Given the description of an element on the screen output the (x, y) to click on. 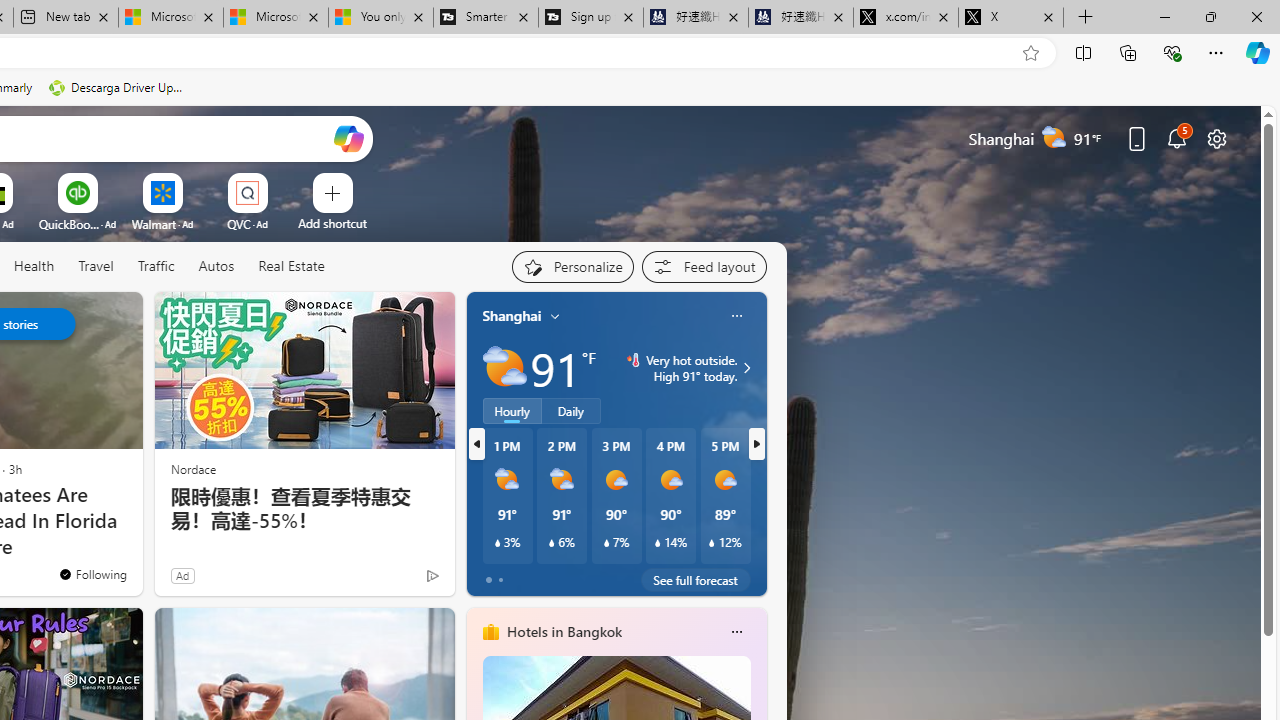
Hourly (511, 411)
hotels-header-icon (490, 632)
You're following The Weather Channel (92, 573)
